Given the description of an element on the screen output the (x, y) to click on. 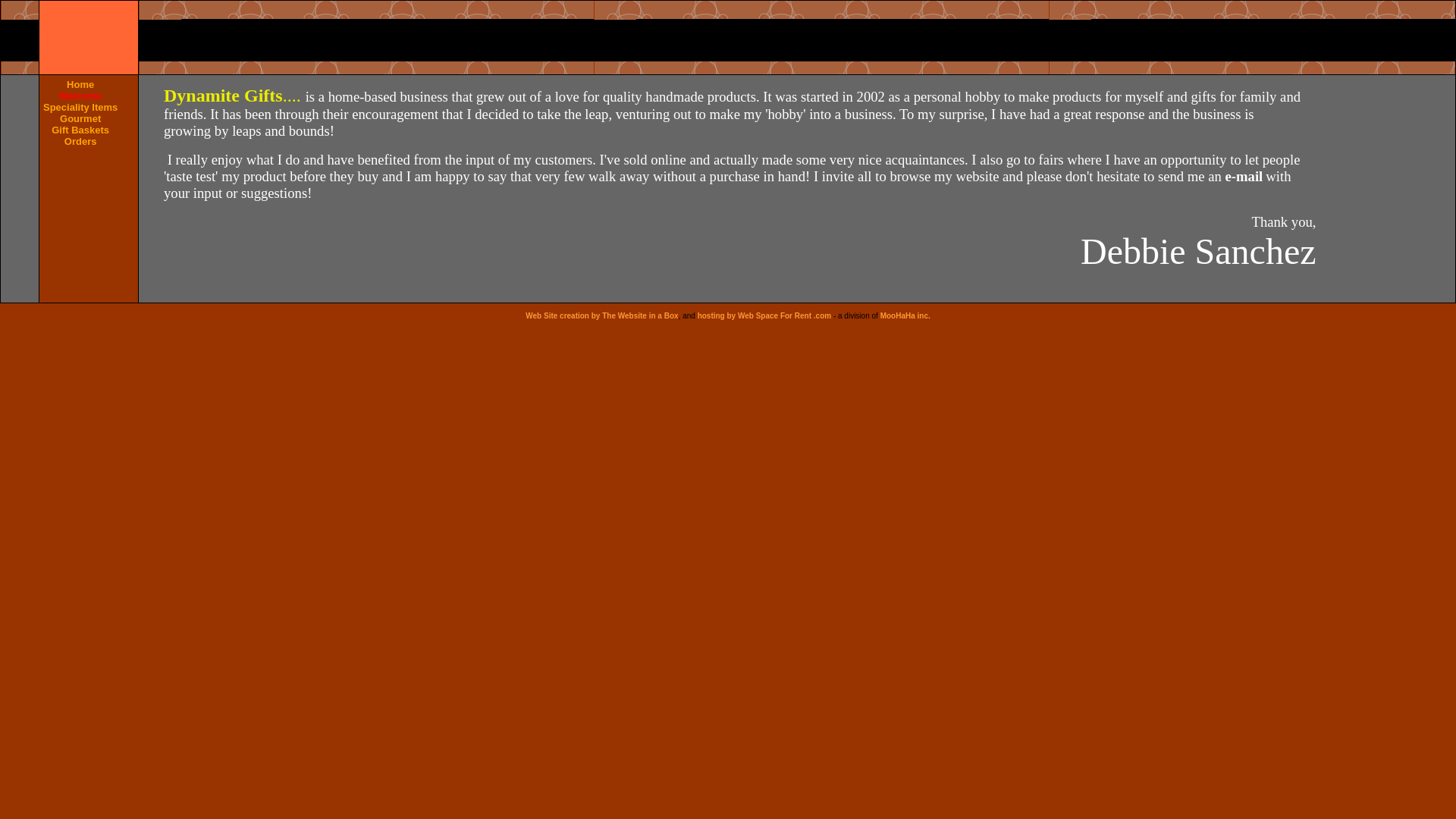
Home (80, 84)
Gourmet (79, 118)
Gift Baskets (79, 129)
e-mail (1244, 176)
hosting by Web Space For Rent .com (764, 316)
Orders (80, 141)
Welcome (80, 95)
Speciality Items (80, 107)
MooHaHa inc. (905, 316)
Web Site creation by The Website in a Box (601, 316)
